Given the description of an element on the screen output the (x, y) to click on. 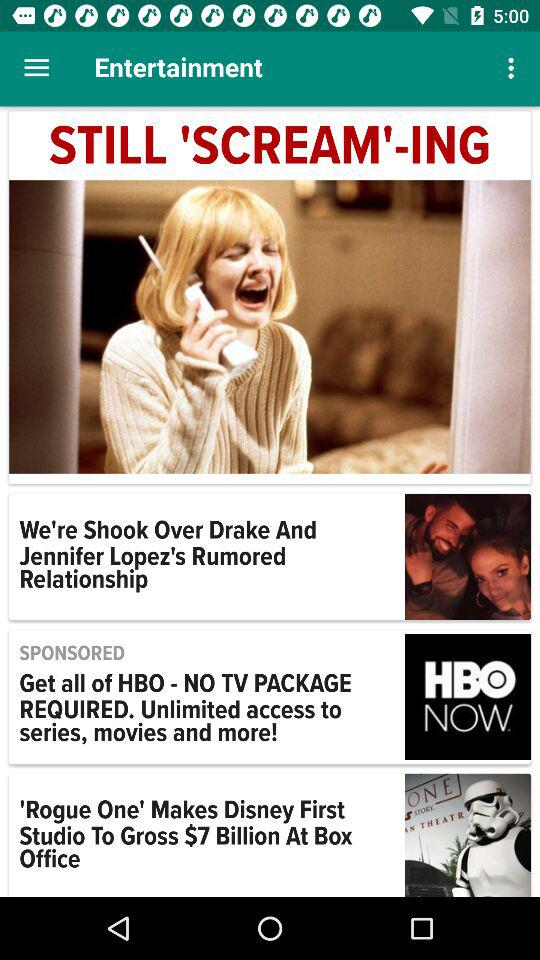
launch item at the top left corner (36, 68)
